Given the description of an element on the screen output the (x, y) to click on. 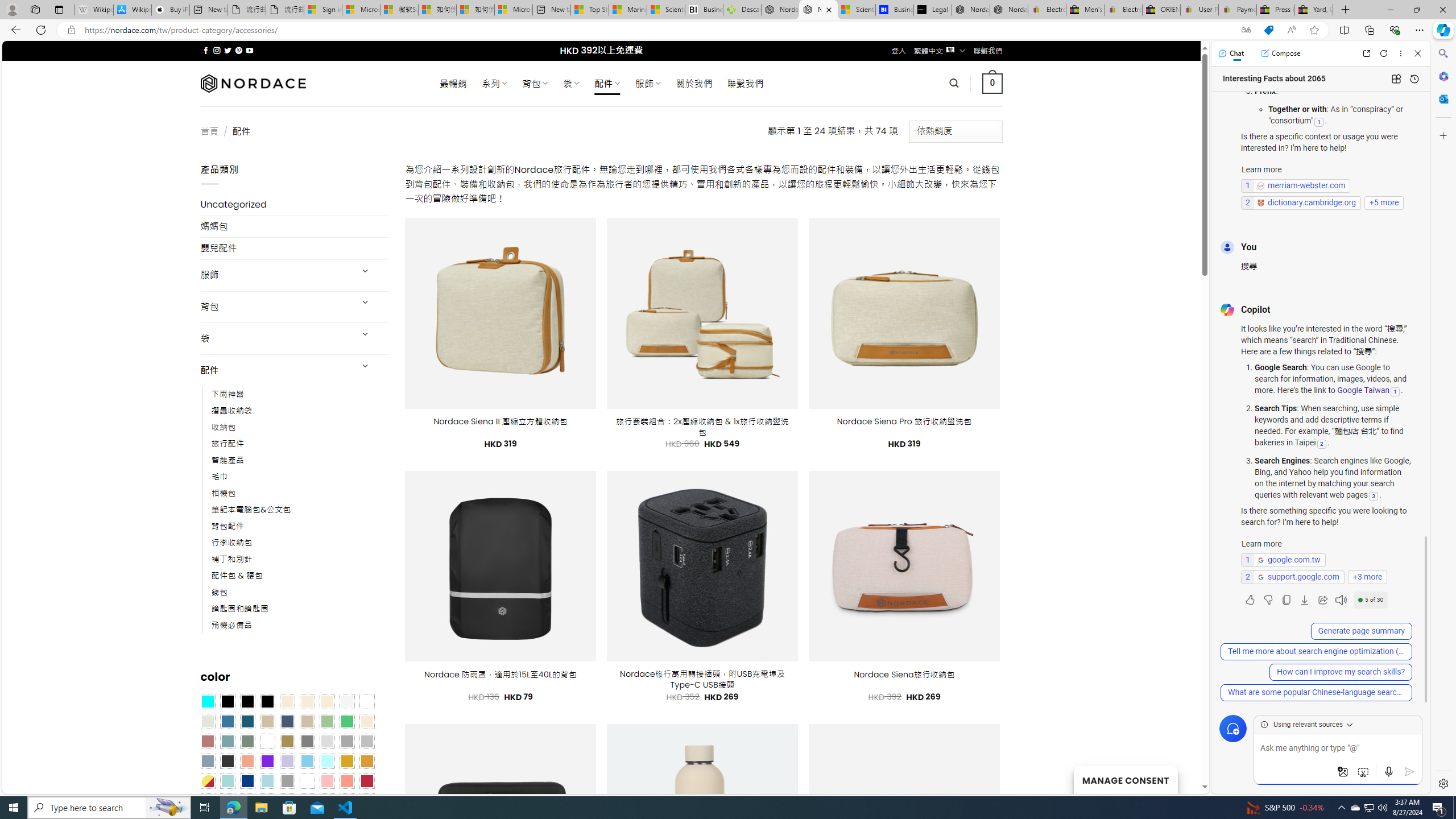
Follow on Facebook (205, 50)
Nordace - Summer Adventures 2024 (780, 9)
